Given the description of an element on the screen output the (x, y) to click on. 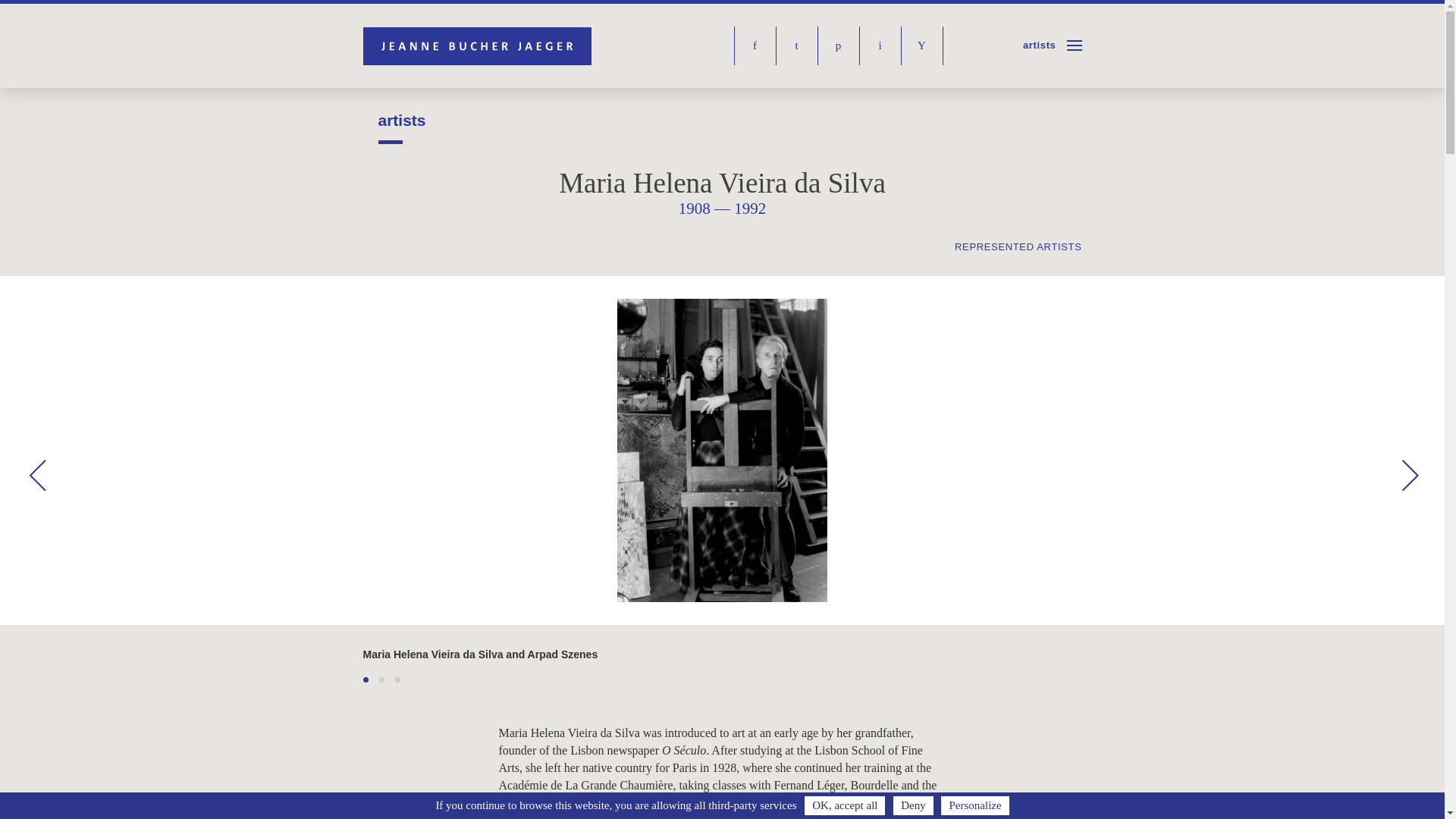
facebook (754, 45)
p (838, 45)
instagram (879, 45)
twitter (796, 45)
t (796, 45)
REPRESENTED ARTISTS (1018, 246)
pinterest (838, 45)
i (879, 45)
Jeanne Bucher Jaeger (478, 45)
artsy (922, 45)
